Given the description of an element on the screen output the (x, y) to click on. 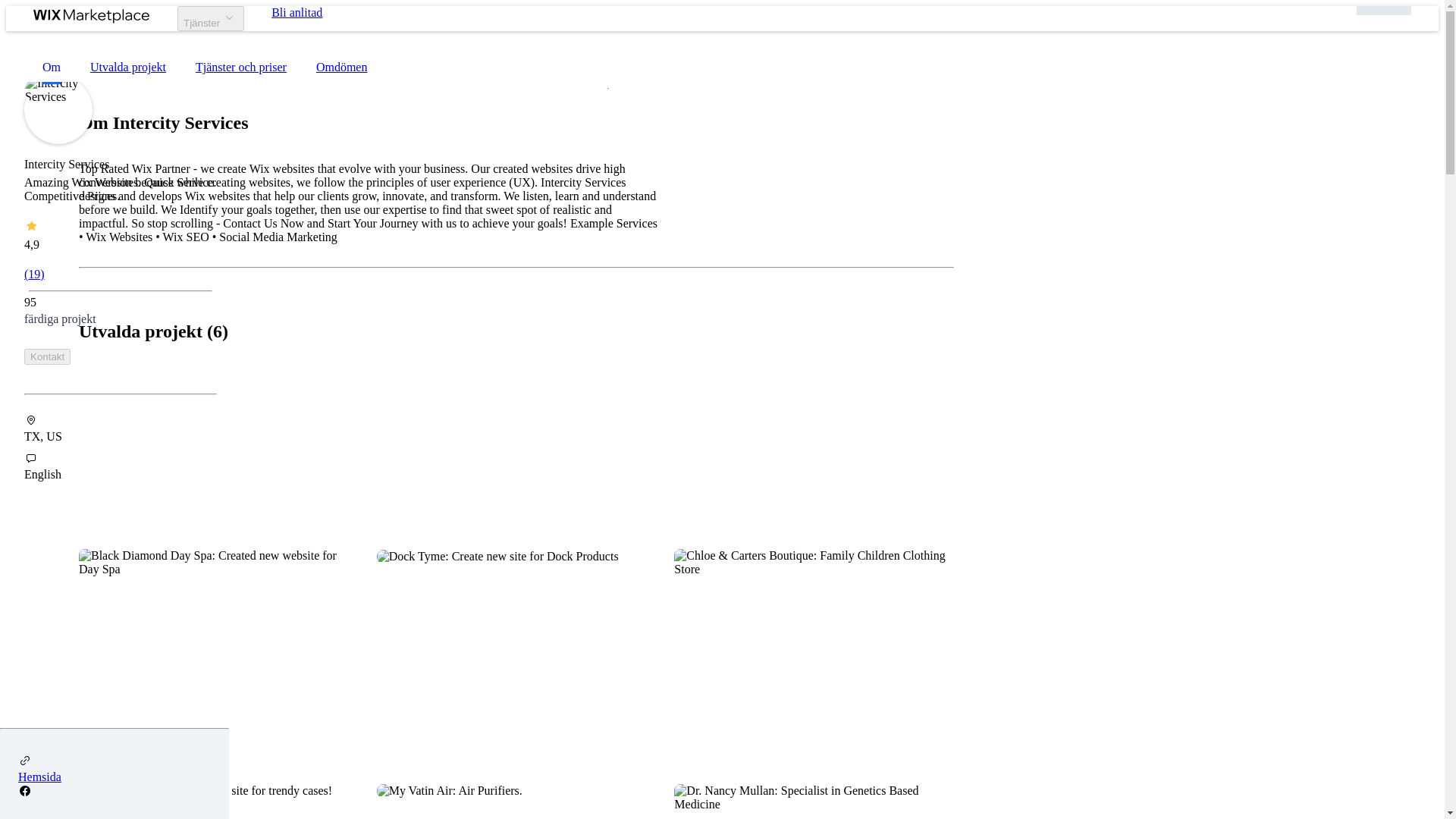
Bli anlitad (295, 12)
